Given the description of an element on the screen output the (x, y) to click on. 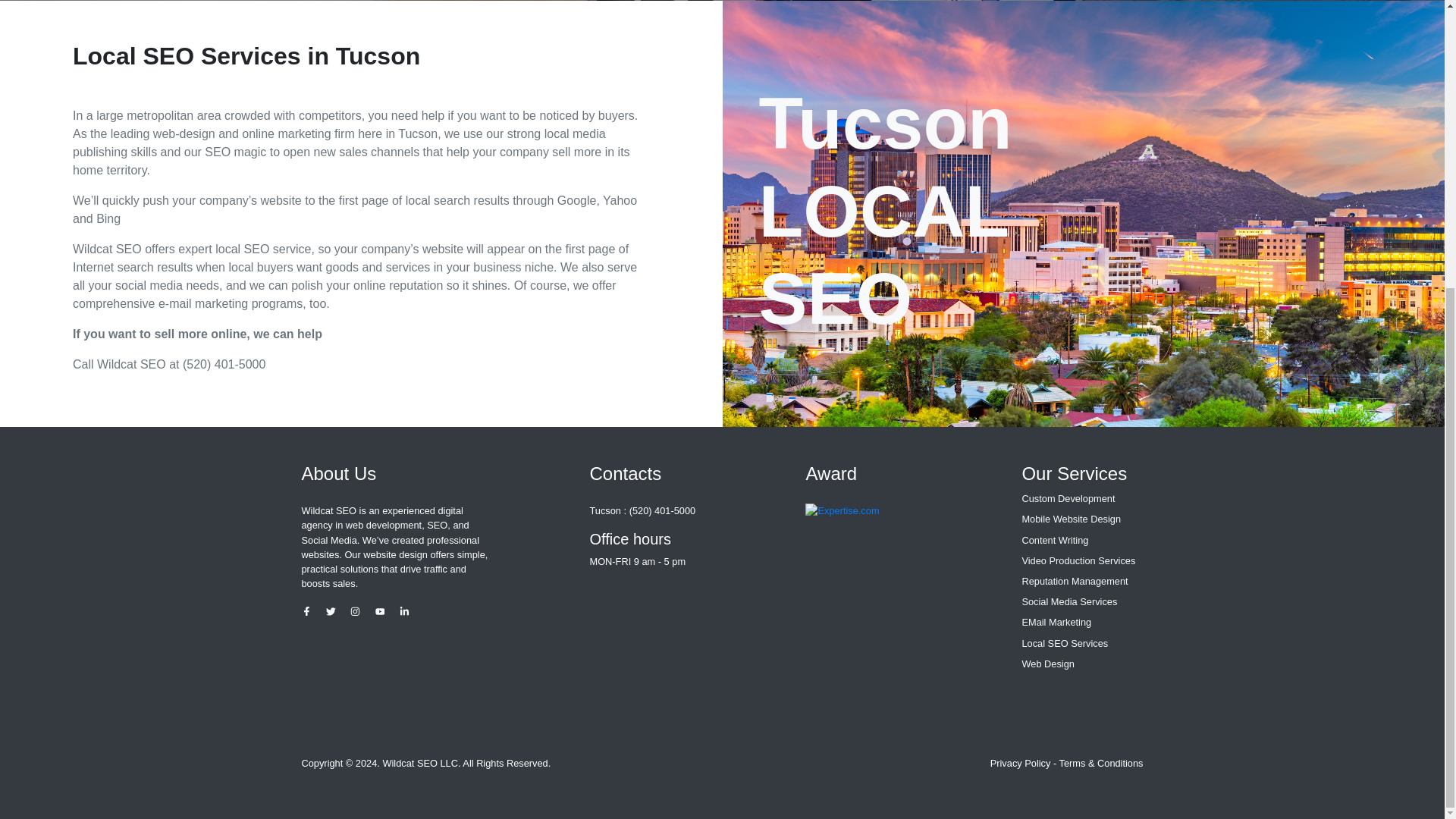
Local SEO Services (1082, 643)
Mobile Website Design (1082, 518)
Privacy Policy (1020, 763)
Social Media Services (1082, 601)
Custom Development (1082, 498)
EMail Marketing (1082, 622)
Content Writing (1082, 540)
Reputation Management (1082, 581)
Web Design (1082, 663)
Video Production Services (1082, 560)
